Given the description of an element on the screen output the (x, y) to click on. 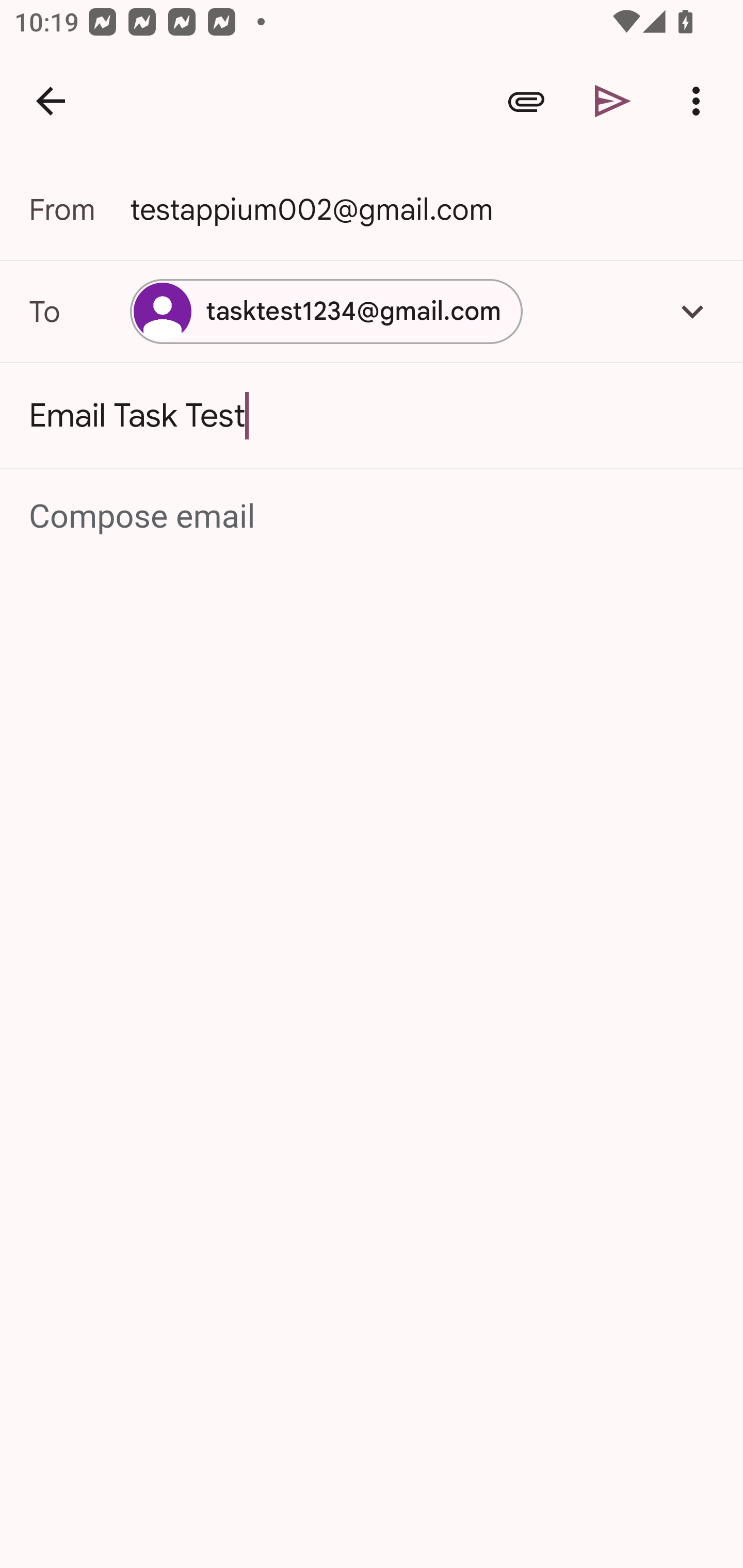
Navigate up (50, 101)
Attach file (525, 101)
Send (612, 101)
More options (699, 101)
From (79, 209)
Add Cc/Bcc (692, 311)
Email Task Test (371, 415)
Compose email (372, 517)
